Given the description of an element on the screen output the (x, y) to click on. 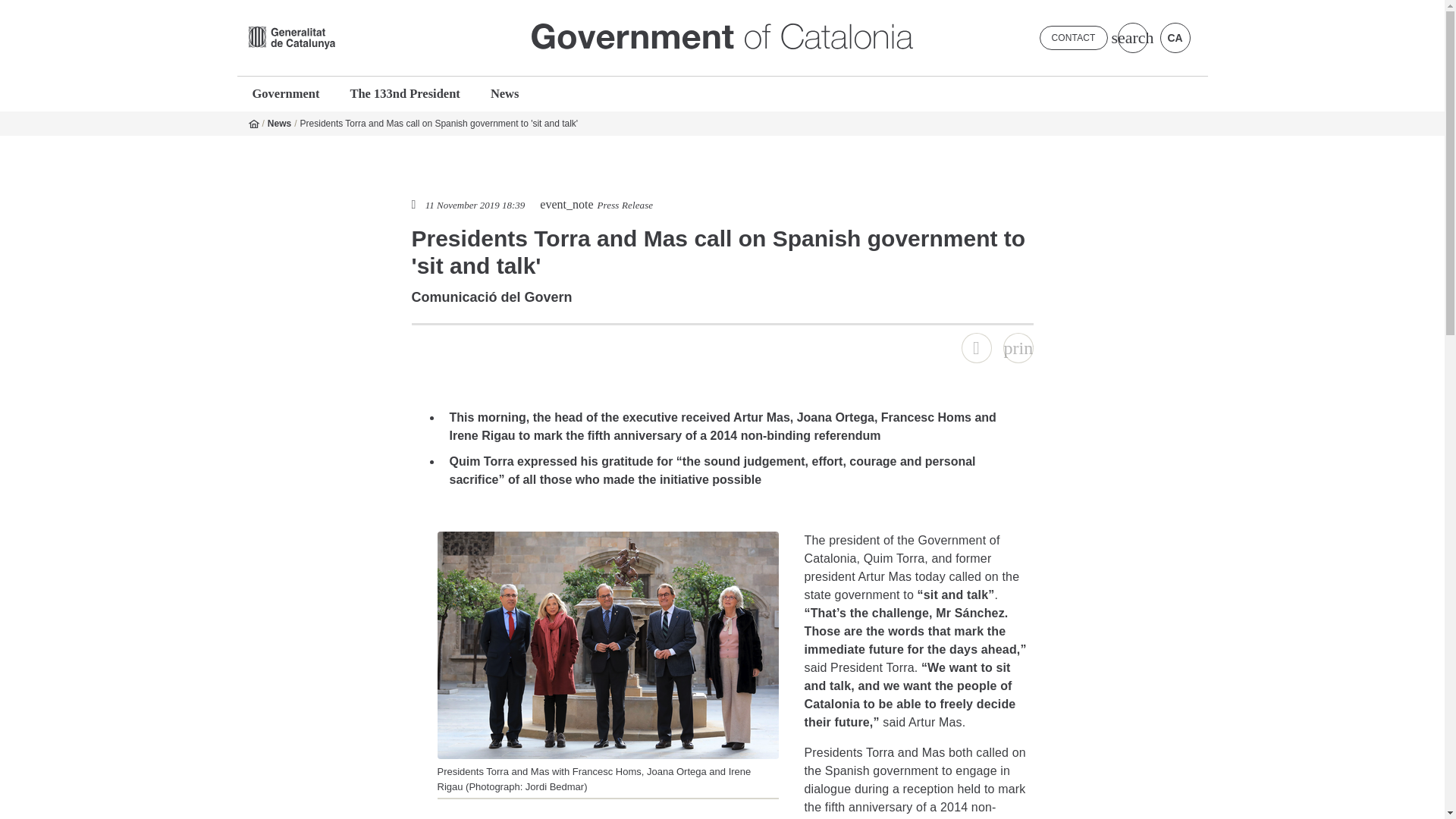
CA (1175, 37)
Government (286, 93)
The 133nd President (403, 93)
web gencat (378, 37)
News (505, 93)
Escut de la Generalitat de Catalunya (291, 37)
Catalan Government (721, 36)
News (279, 122)
search (1133, 37)
CONTACT (1073, 37)
